Given the description of an element on the screen output the (x, y) to click on. 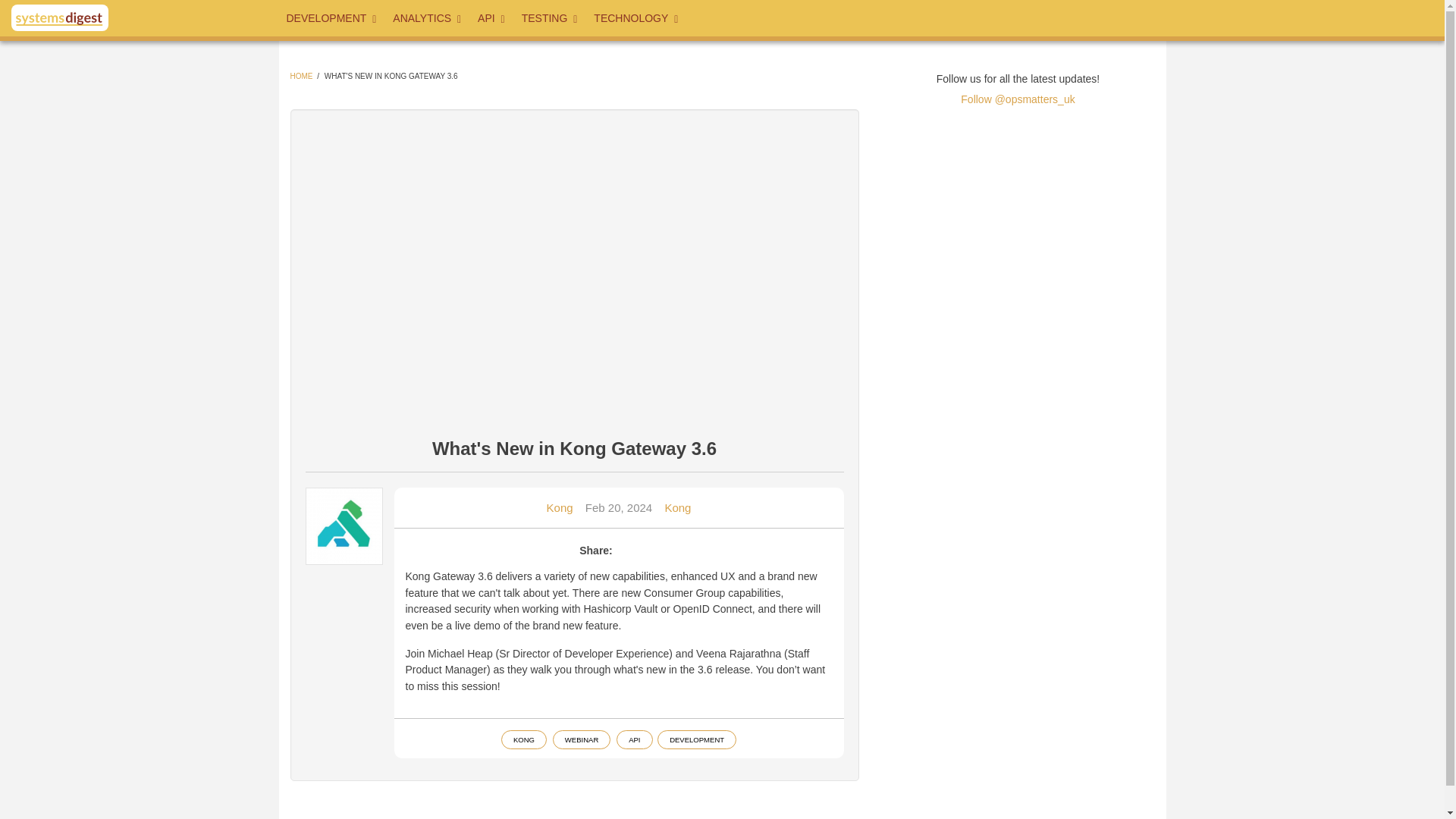
twitter (899, 15)
TESTING (549, 18)
linkedin (997, 15)
Kong (560, 507)
DEVELOPMENT (332, 18)
GitHub (1046, 15)
WEBINAR (581, 740)
Home (59, 17)
ANALYTICS (427, 18)
kong logo (343, 526)
KONG (523, 740)
facebook (949, 15)
HOME (301, 76)
Kong (676, 507)
